Given the description of an element on the screen output the (x, y) to click on. 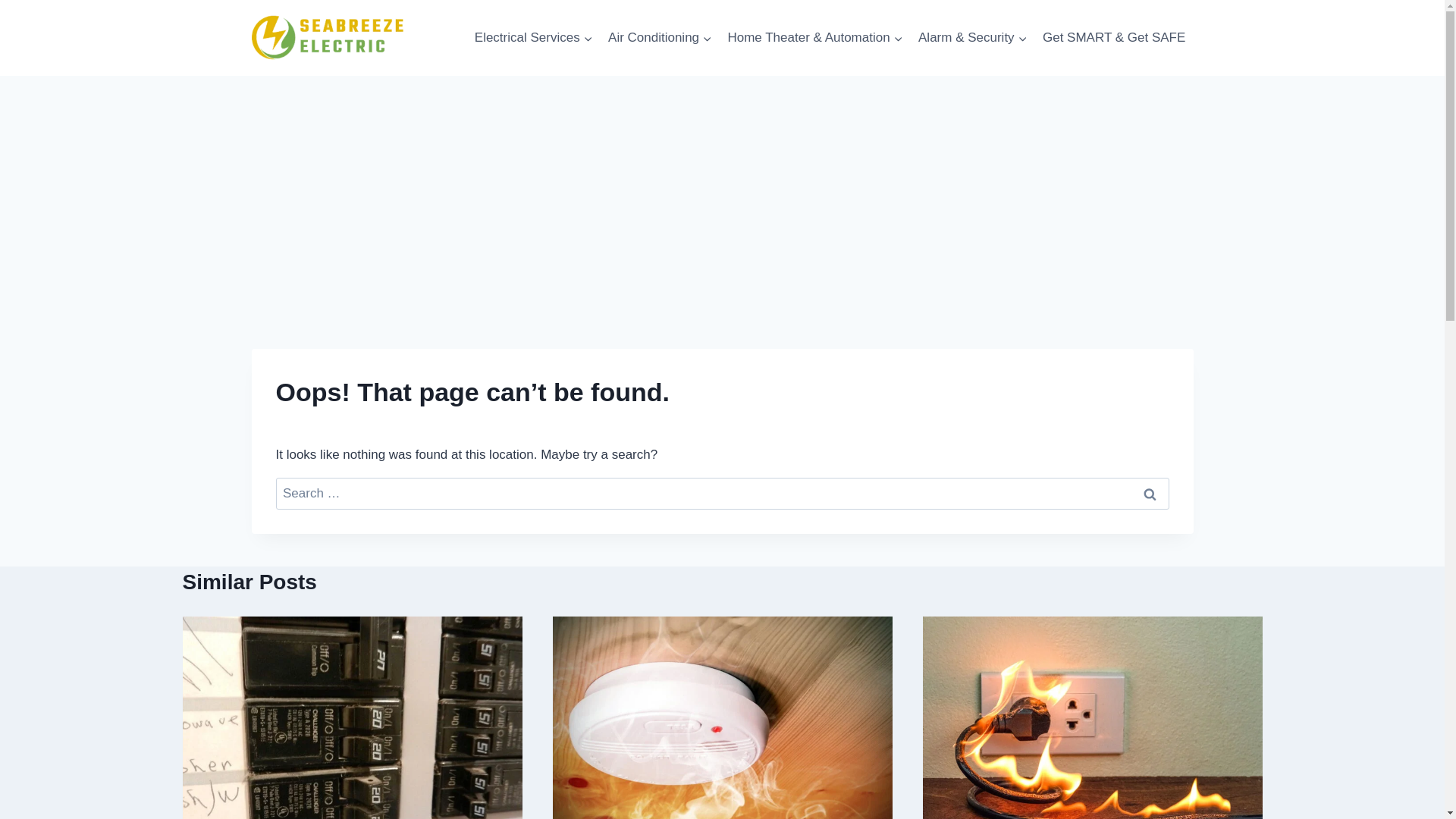
Electrical Services (533, 37)
Search (1150, 493)
Air Conditioning (659, 37)
Search (1150, 493)
Search (1150, 493)
